Given the description of an element on the screen output the (x, y) to click on. 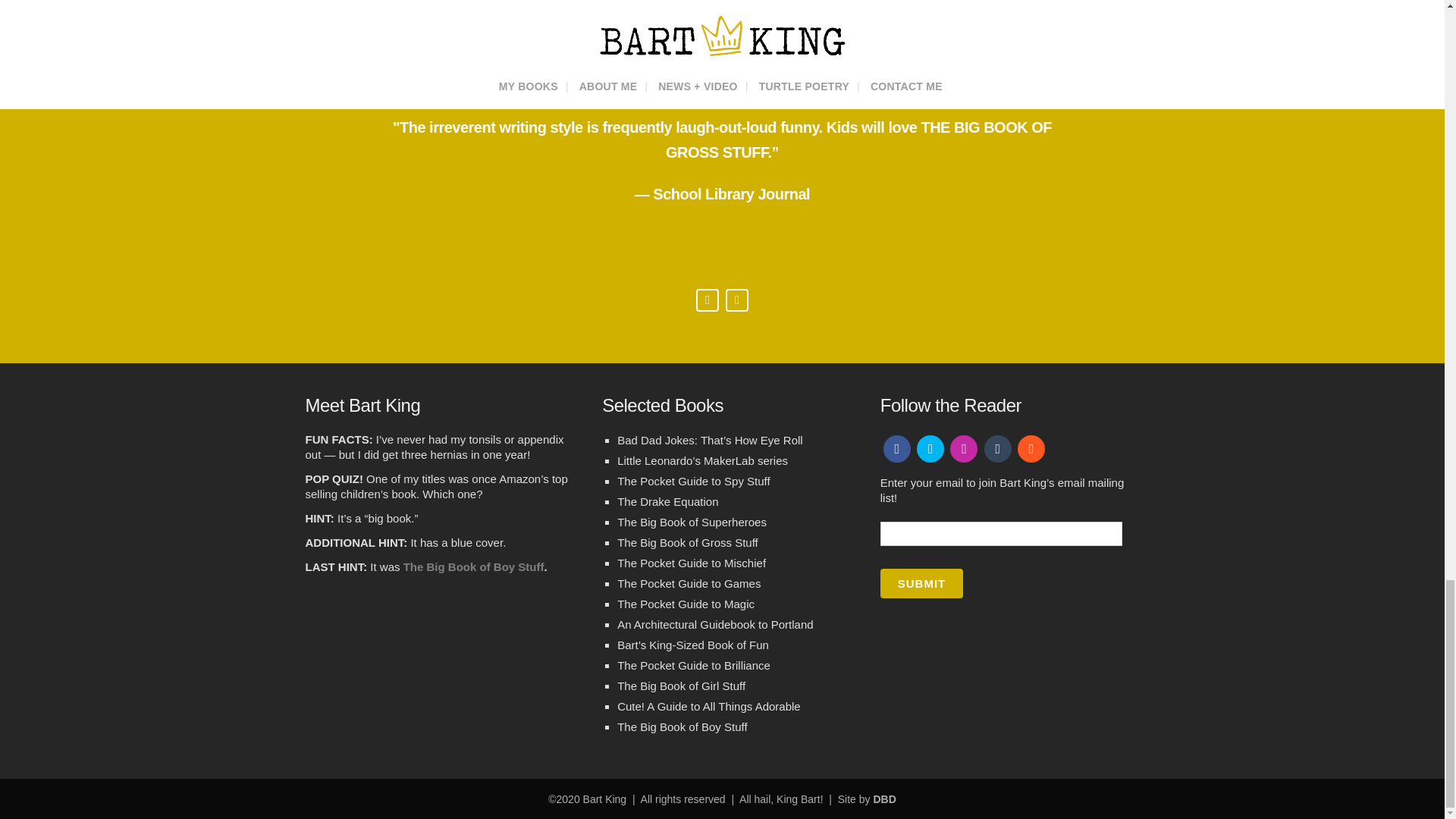
Submit (921, 583)
